Given the description of an element on the screen output the (x, y) to click on. 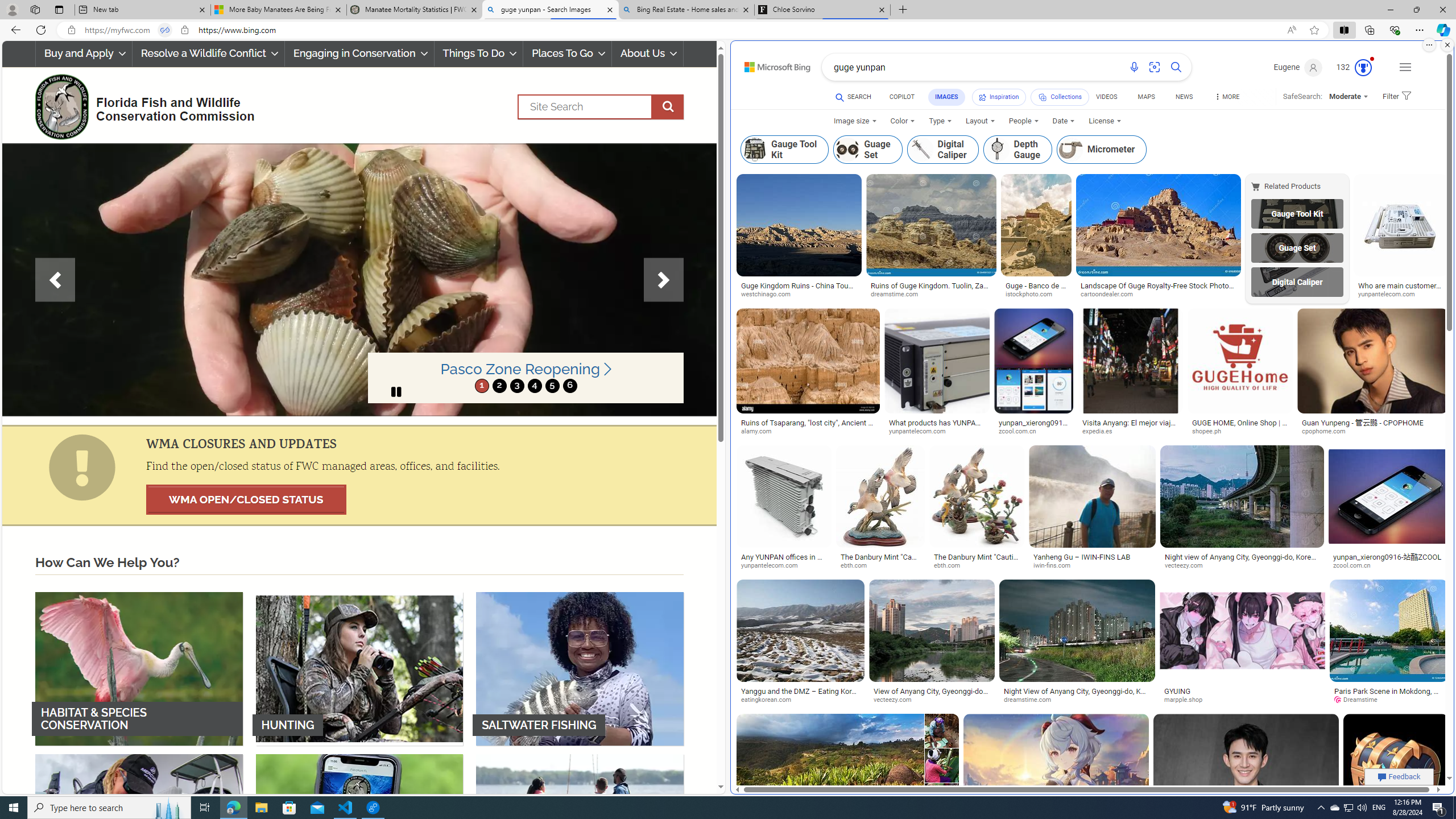
istockphoto.com (1033, 294)
3 (516, 385)
GYUING (1177, 691)
westchinago.com (799, 293)
Image result for guge yunpan (1395, 766)
ebth.com (976, 565)
WMA OPEN/CLOSED STATUS (245, 499)
Back to Bing search (770, 64)
yunpantelecom.com (784, 565)
zcool.com.cn (1387, 565)
